Given the description of an element on the screen output the (x, y) to click on. 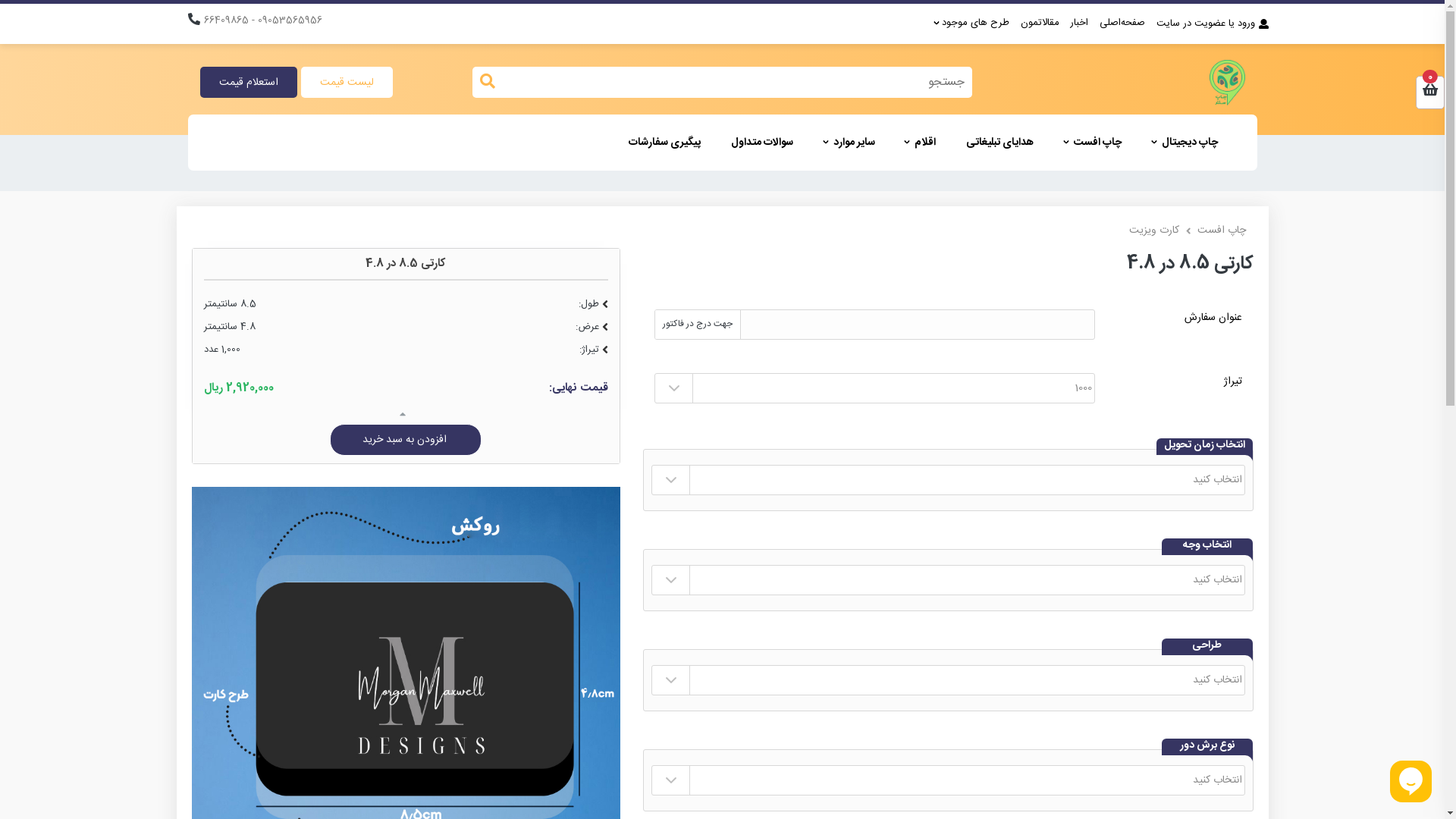
09053565956 - 66409865 Element type: text (262, 20)
